Given the description of an element on the screen output the (x, y) to click on. 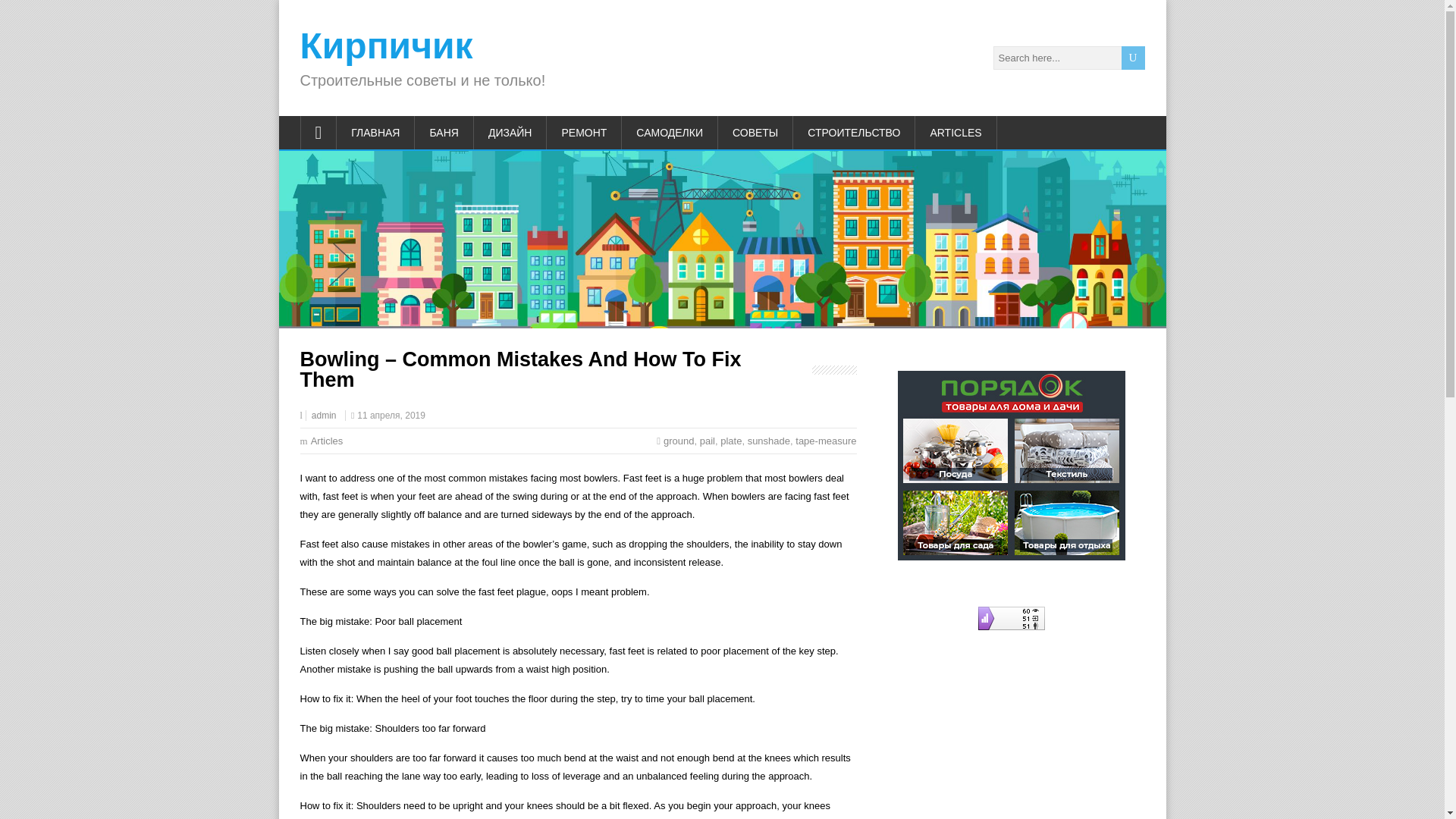
tape-measure (825, 440)
plate (730, 440)
pail (707, 440)
ground (678, 440)
sunshade (769, 440)
U (1132, 57)
Articles (327, 440)
admin (323, 415)
U (1132, 57)
ARTICLES (955, 132)
U (1132, 57)
